Given the description of an element on the screen output the (x, y) to click on. 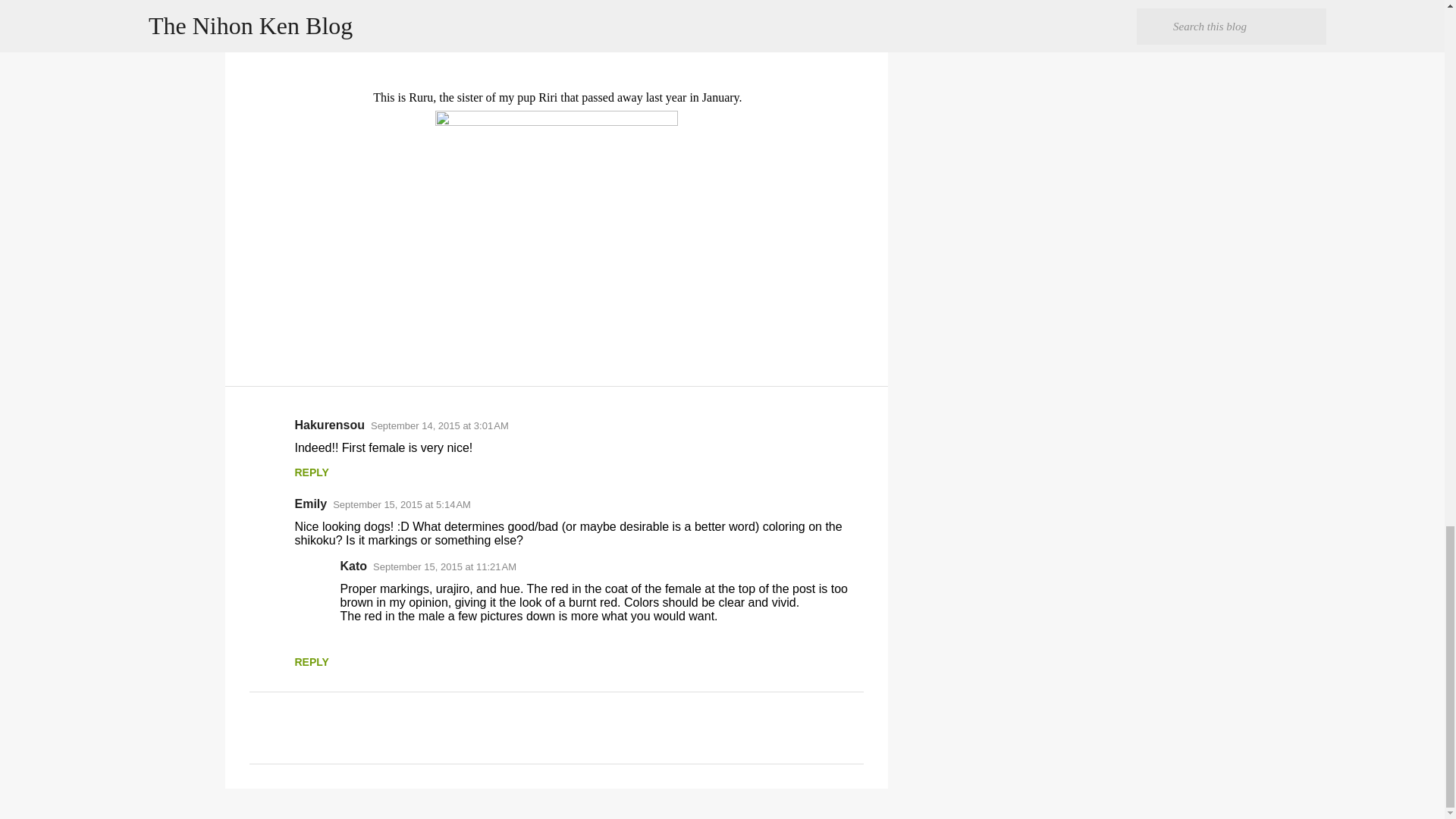
Emily (310, 503)
Hakurensou (329, 424)
Kato (352, 565)
REPLY (311, 662)
REPLY (311, 472)
